Given the description of an element on the screen output the (x, y) to click on. 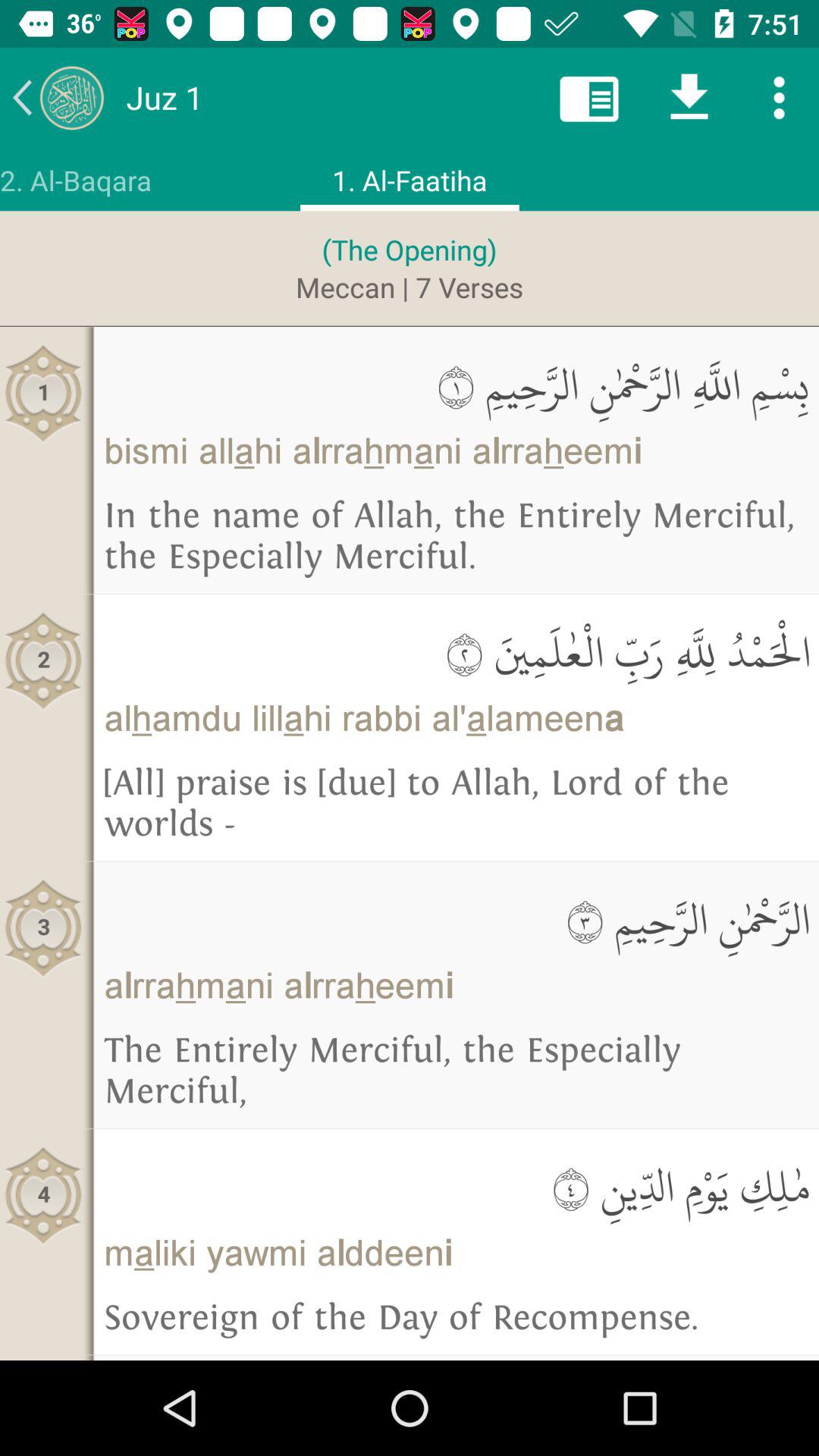
tap item below the entirely merciful item (456, 1186)
